Given the description of an element on the screen output the (x, y) to click on. 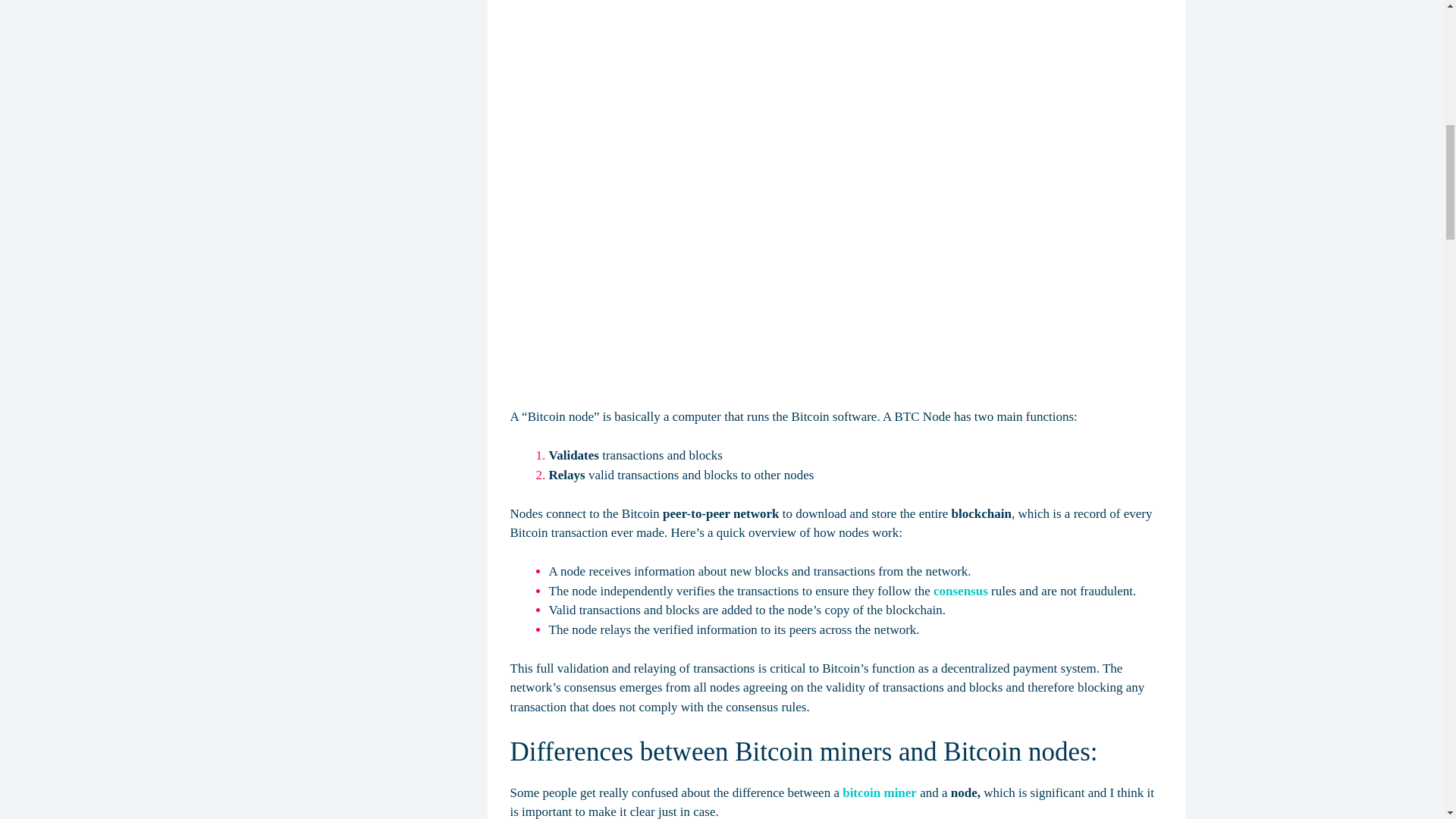
Scroll back to top (1403, 716)
